Given the description of an element on the screen output the (x, y) to click on. 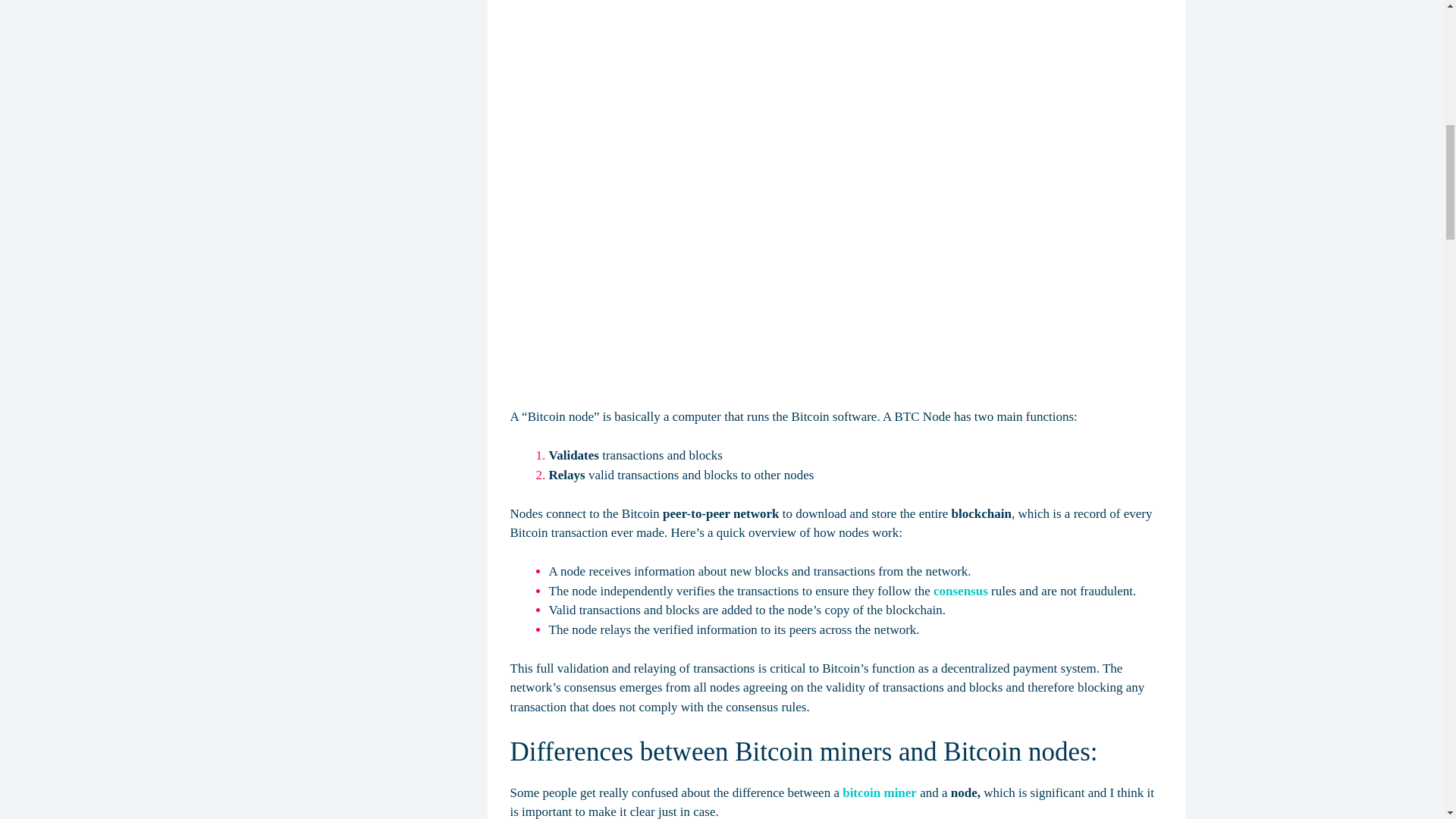
Scroll back to top (1403, 716)
